Given the description of an element on the screen output the (x, y) to click on. 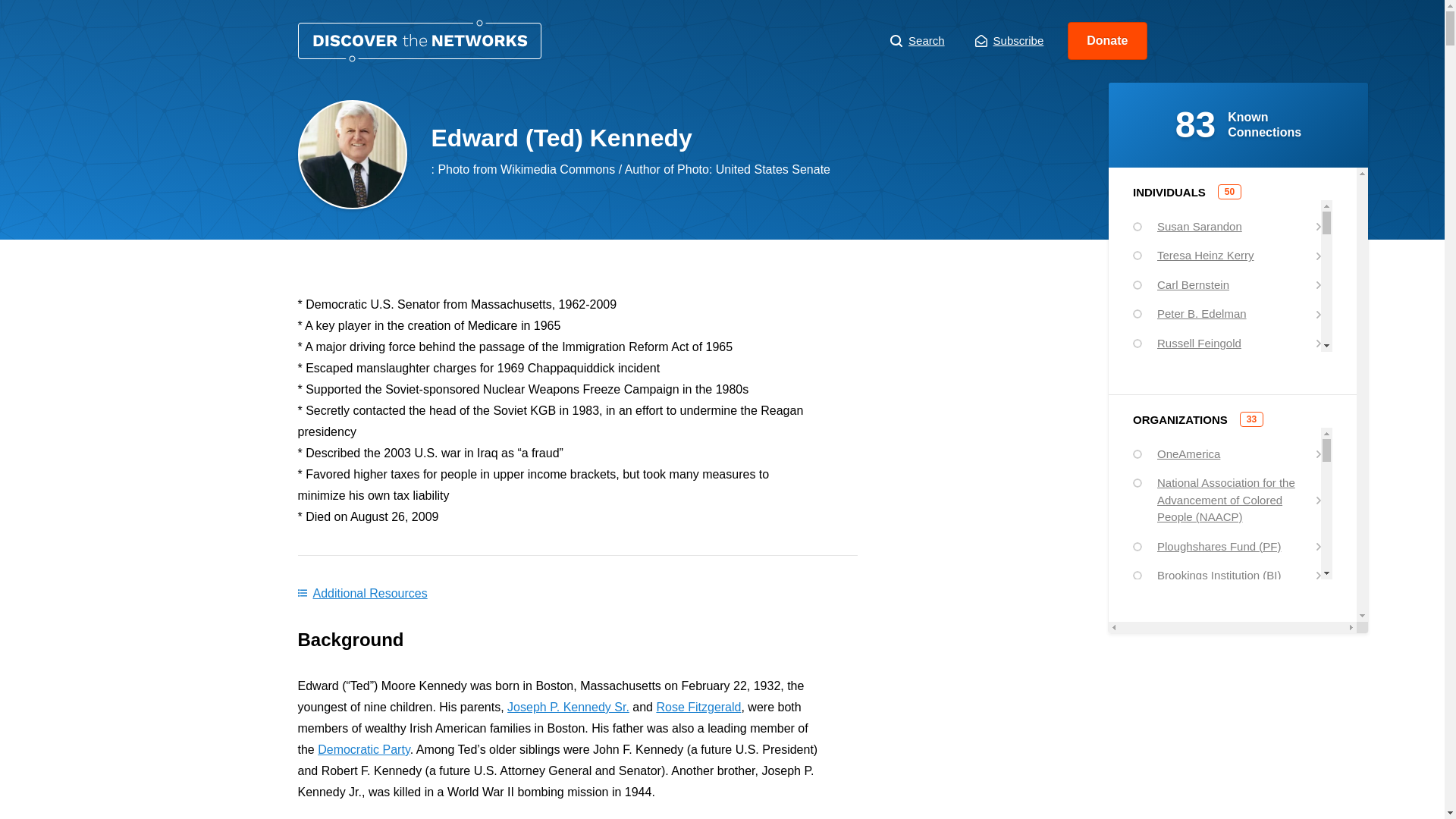
Rose Fitzgerald (698, 707)
Additional Resources (361, 593)
Subscribe (1009, 40)
Joseph P. Kennedy Sr. (567, 707)
Donate (1107, 40)
Democratic Party (363, 748)
Search (916, 40)
